Given the description of an element on the screen output the (x, y) to click on. 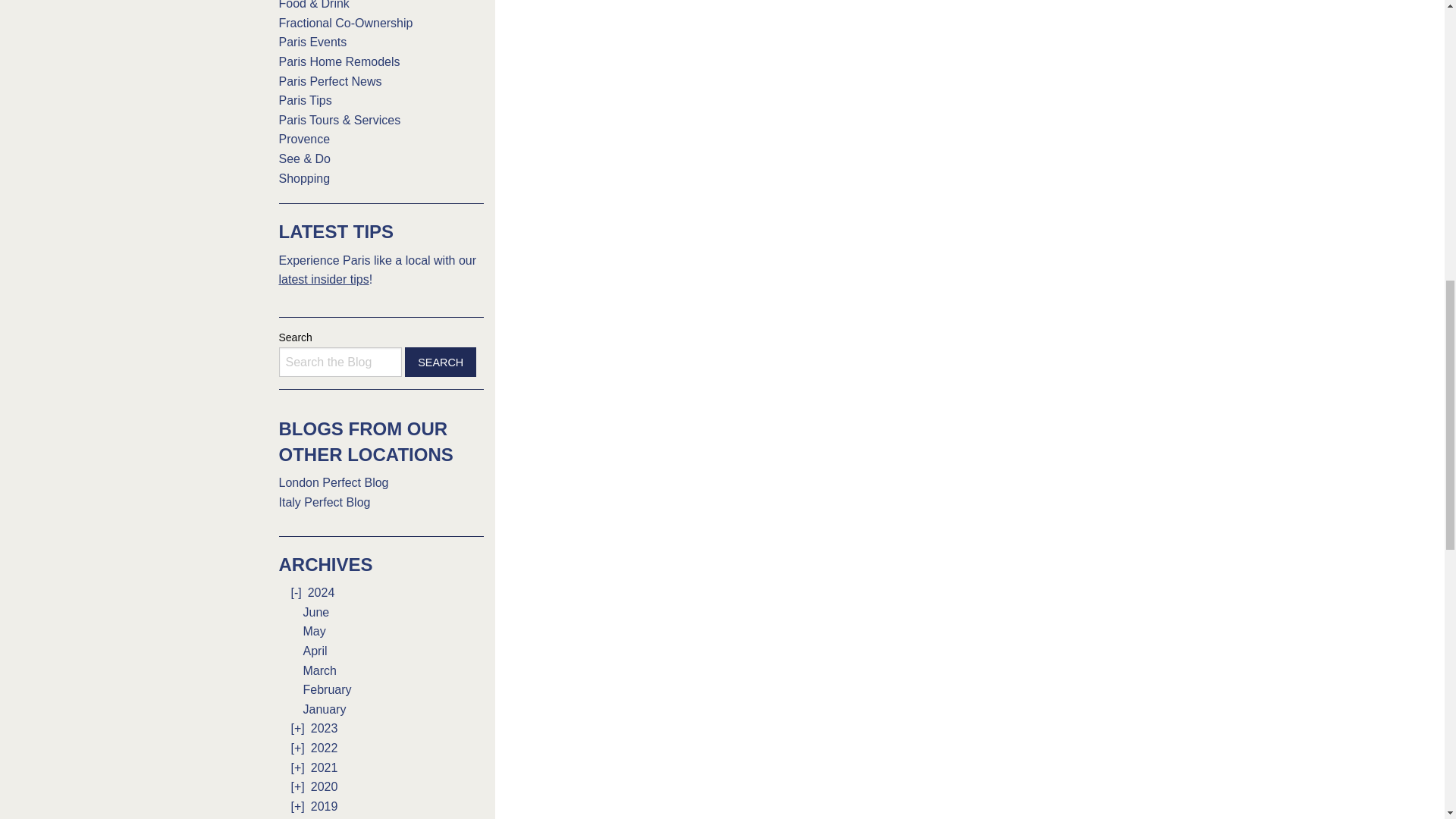
May (314, 631)
2024 (299, 592)
June (316, 612)
Search (440, 361)
2024 (320, 592)
